Given the description of an element on the screen output the (x, y) to click on. 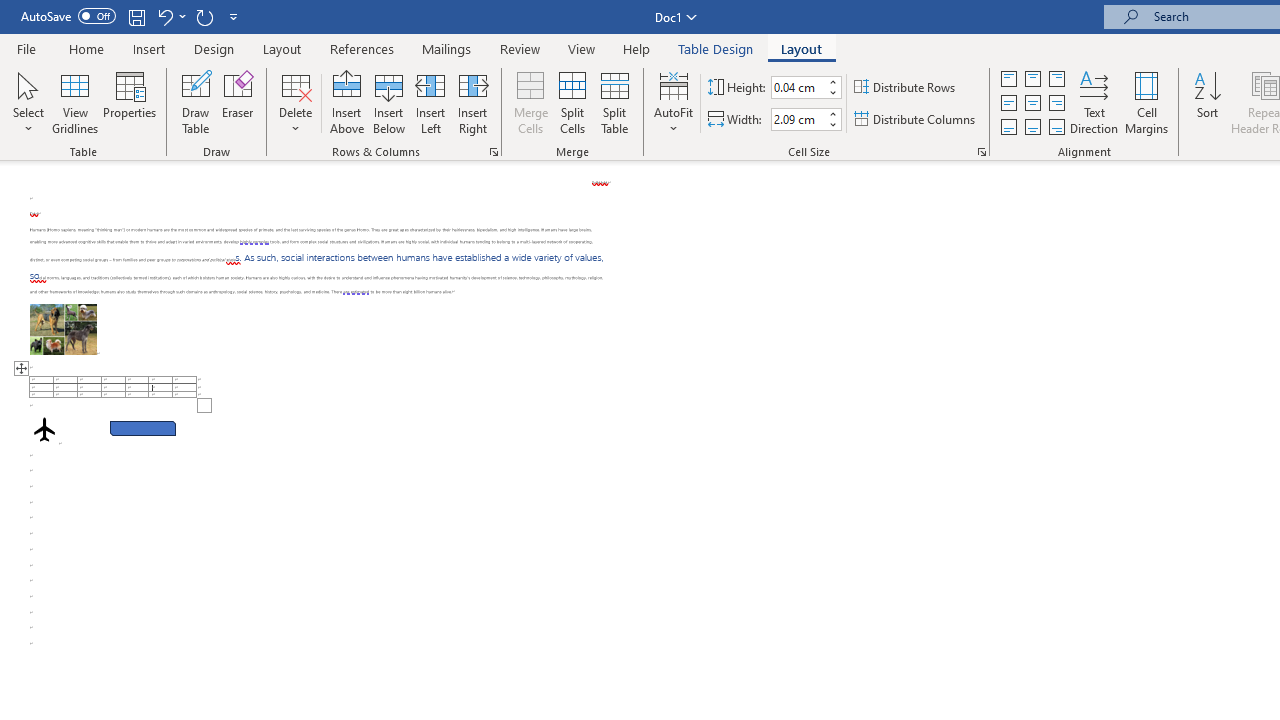
Align Bottom Right (1056, 126)
Merge Cells (530, 102)
Align Bottom Center (1032, 126)
Align Top Center (1032, 78)
View Gridlines (75, 102)
Insert Left (430, 102)
Distribute Rows (906, 87)
Align Top Justified (1009, 78)
